Given the description of an element on the screen output the (x, y) to click on. 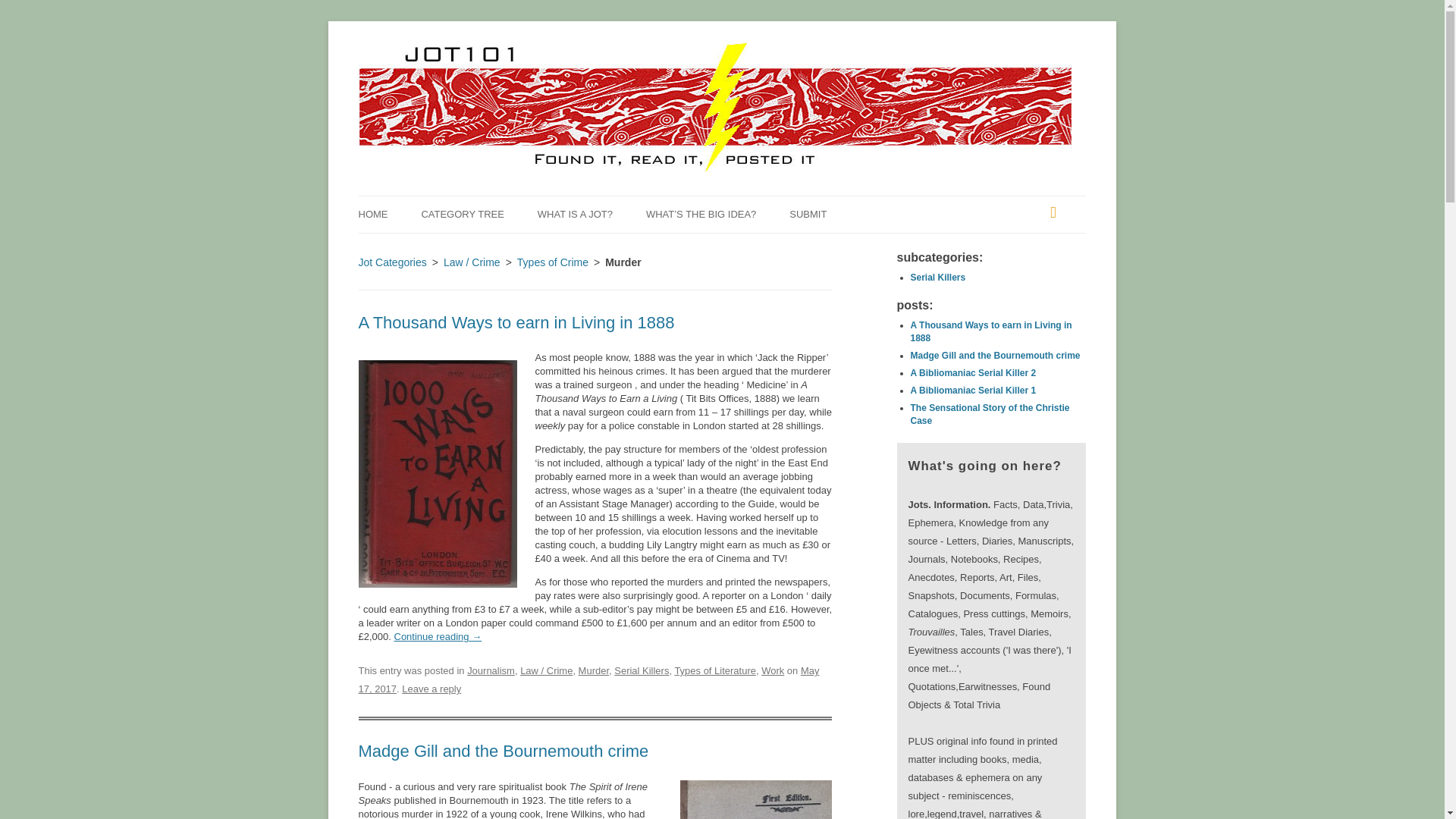
9:46 am (588, 679)
Journalism (491, 670)
Leave a reply (431, 688)
Types of Crime (552, 262)
Types of Literature (714, 670)
SUBMIT (808, 214)
May 17, 2017 (588, 679)
Jot Categories (392, 262)
WHAT IS A JOT? (574, 214)
Madge Gill and the Bournemouth crime (502, 751)
A Thousand Ways to earn in Living in 1888 (516, 322)
View all posts in Serial Killers (937, 276)
Murder (593, 670)
